Given the description of an element on the screen output the (x, y) to click on. 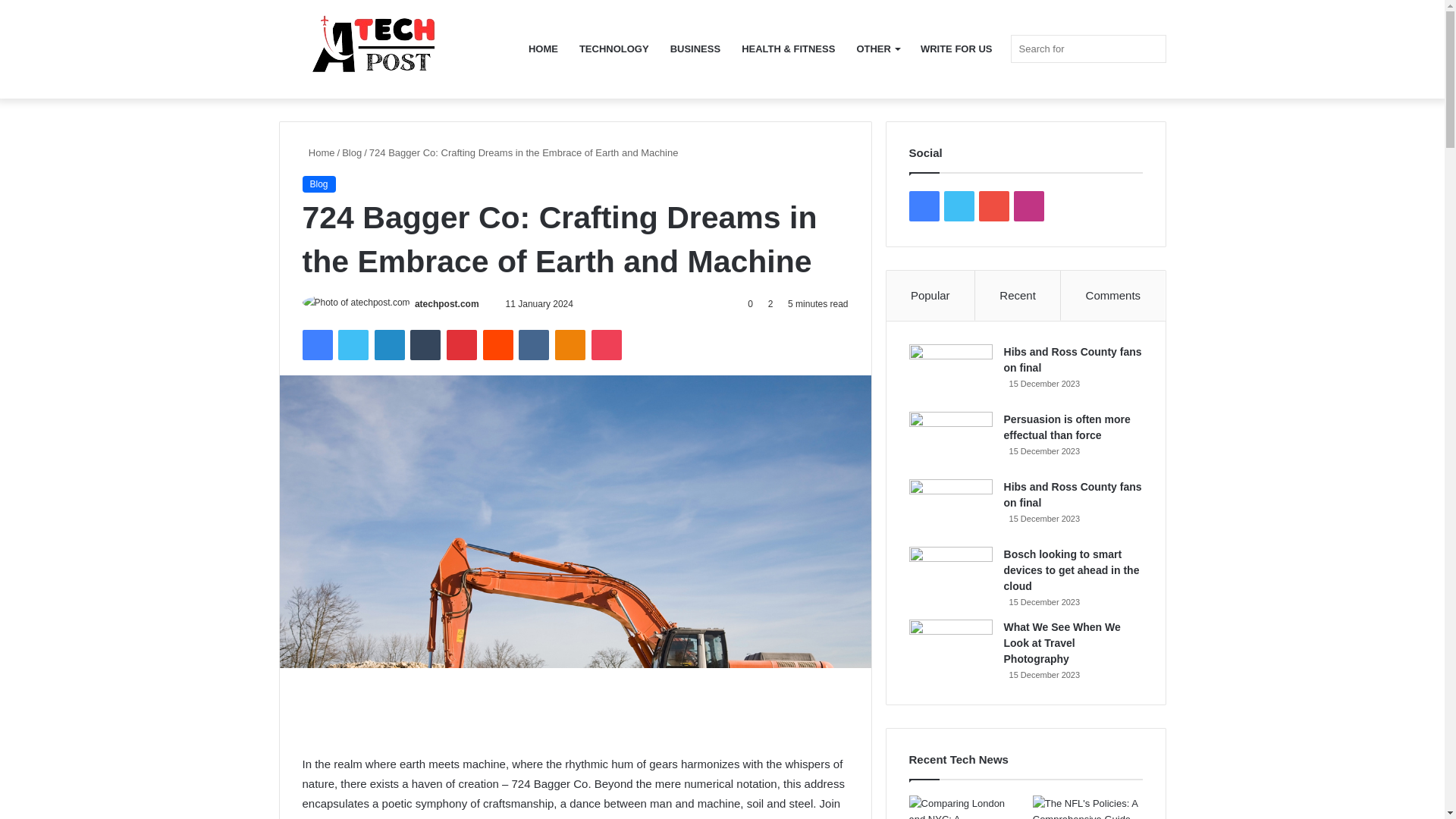
Facebook (316, 345)
Blog (351, 152)
Search for (1088, 49)
Odnoklassniki (569, 345)
Twitter (352, 345)
Twitter (352, 345)
Reddit (498, 345)
atechpost.com (446, 303)
Home (317, 152)
LinkedIn (389, 345)
